Given the description of an element on the screen output the (x, y) to click on. 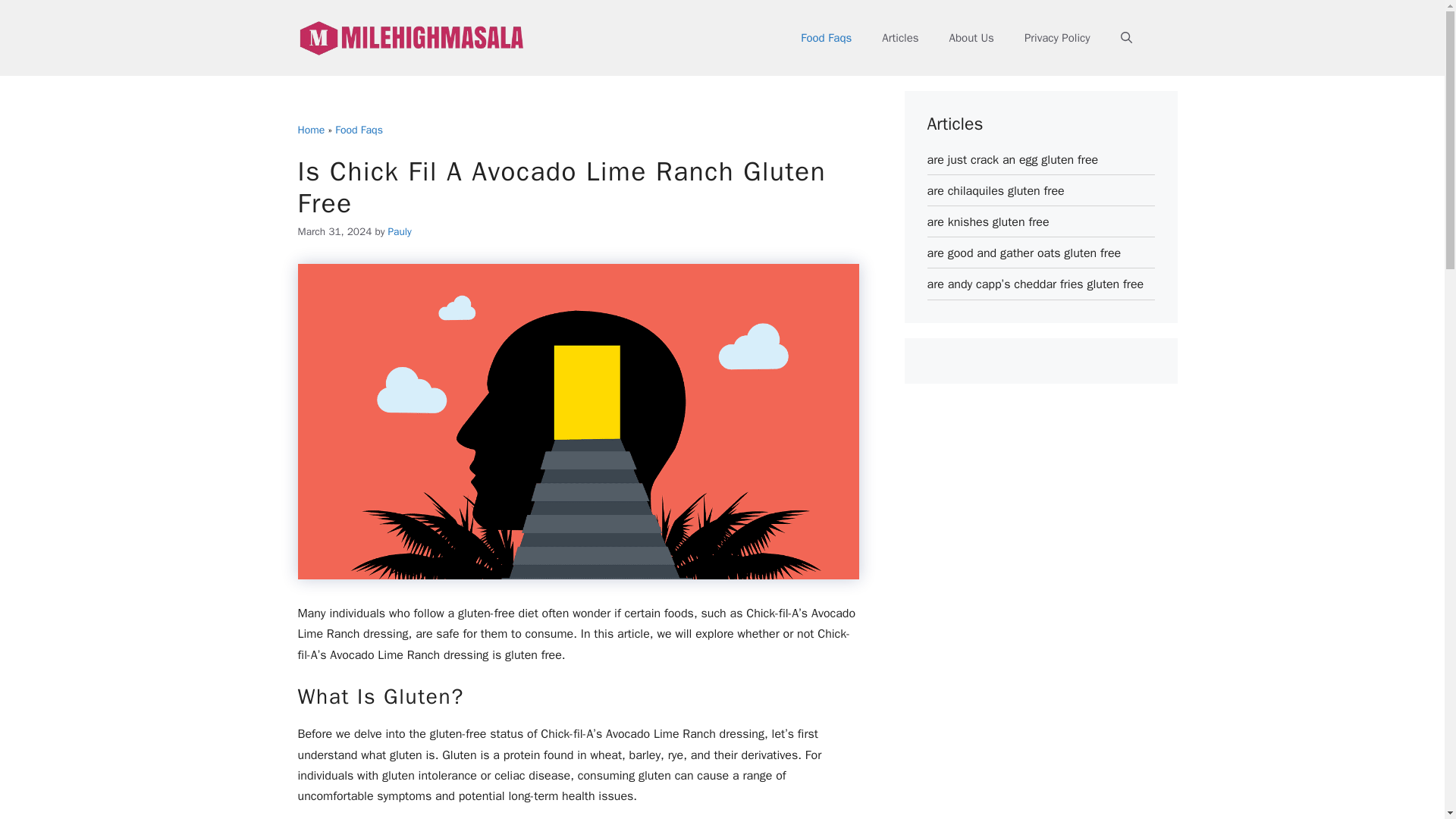
Food Faqs (358, 129)
are just crack an egg gluten free (1011, 159)
Pauly (400, 231)
Privacy Policy (1057, 37)
Home (310, 129)
are good and gather oats gluten free (1023, 253)
are chilaquiles gluten free (995, 191)
About Us (971, 37)
Articles (899, 37)
Food Faqs (826, 37)
are knishes gluten free (987, 222)
View all posts by Pauly (400, 231)
